Given the description of an element on the screen output the (x, y) to click on. 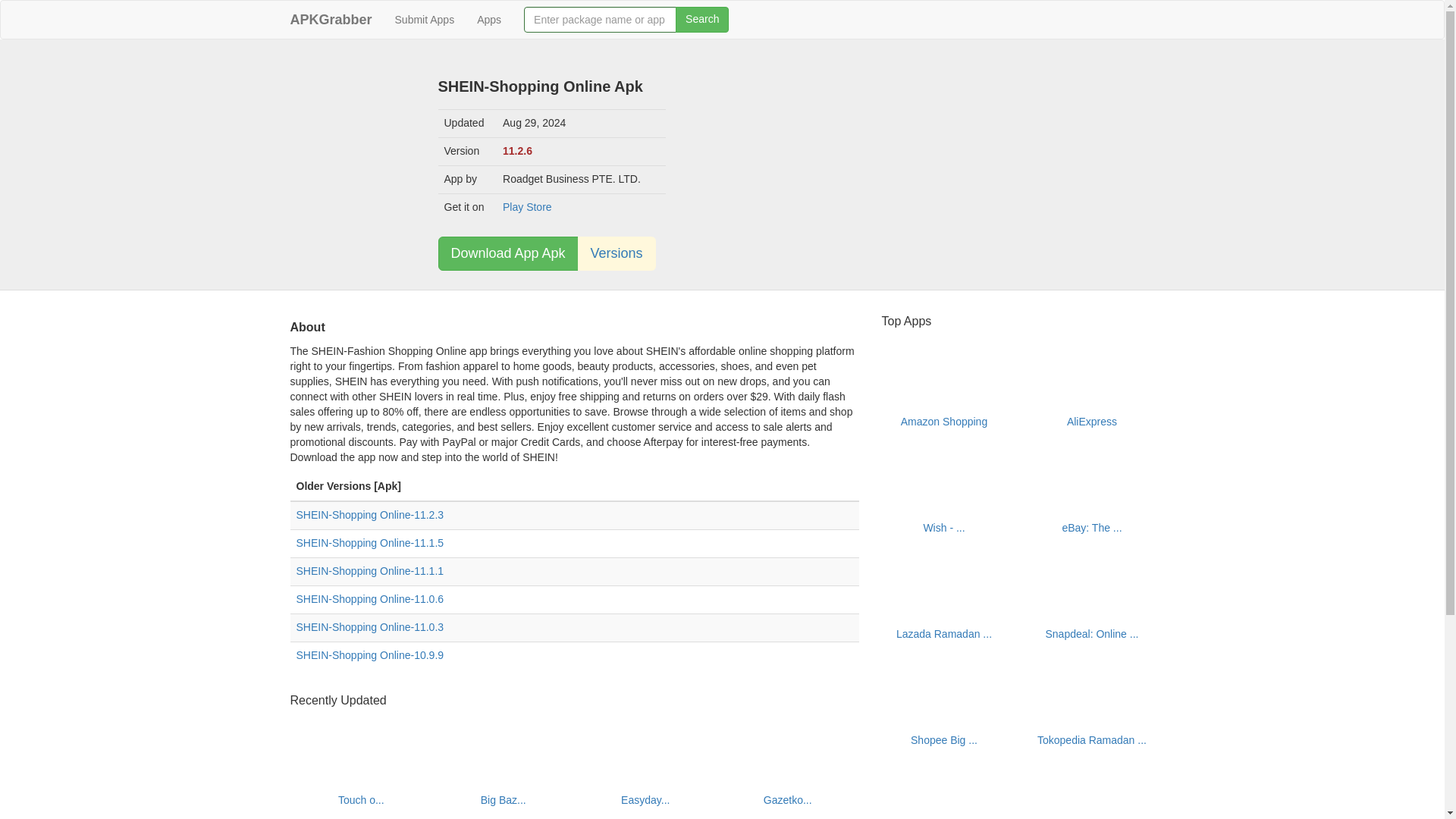
SHEIN-Shopping Online-11.0.6 (369, 598)
SHEIN-Shopping Online-11.0.3 (369, 626)
Touch o... (360, 799)
Versions (617, 253)
Touch of Modern: Shopping apk for android (360, 746)
Apps (488, 19)
Big Baz... (502, 799)
APKGrabber (331, 19)
Easyday... (645, 799)
Gazetkowo: Gazetki Promocyjne apk for android (787, 799)
